Given the description of an element on the screen output the (x, y) to click on. 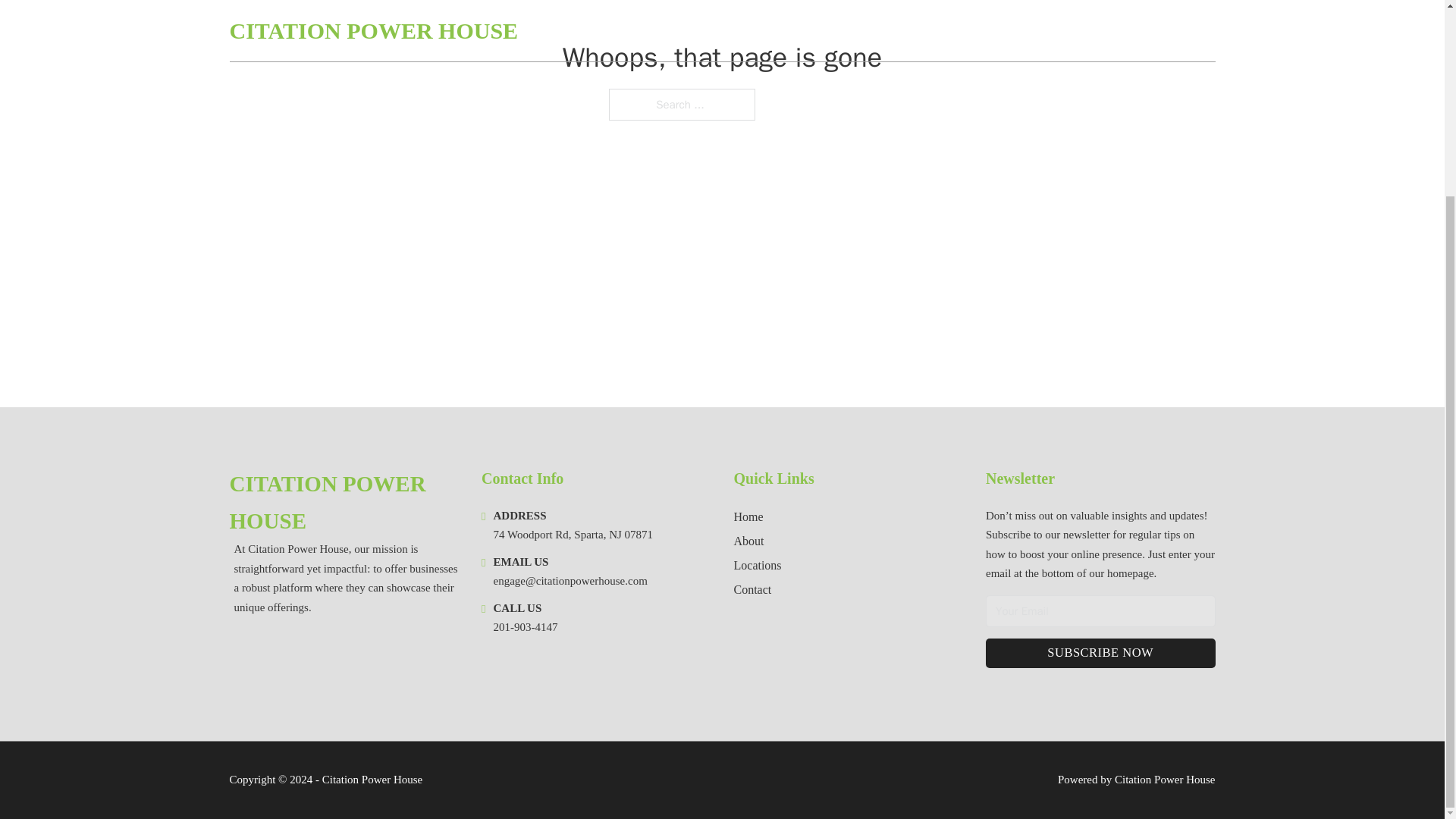
SUBSCRIBE NOW (1100, 653)
Contact (752, 589)
Home (747, 516)
Locations (757, 565)
CITATION POWER HOUSE (343, 503)
About (748, 540)
201-903-4147 (525, 626)
